Given the description of an element on the screen output the (x, y) to click on. 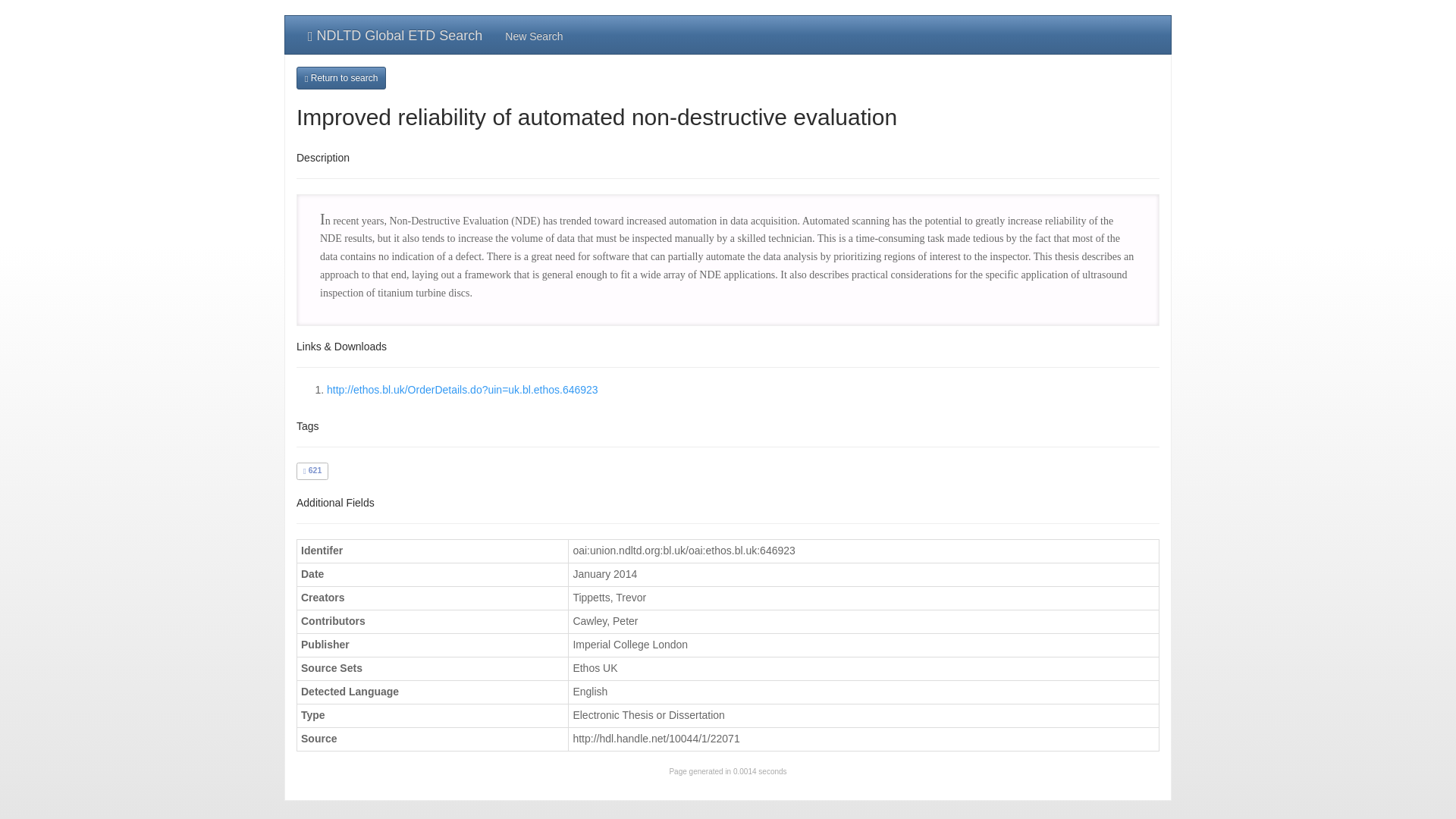
621 (311, 470)
NDLTD Global ETD Search (395, 34)
New Search (533, 34)
Return to search (341, 77)
